Given the description of an element on the screen output the (x, y) to click on. 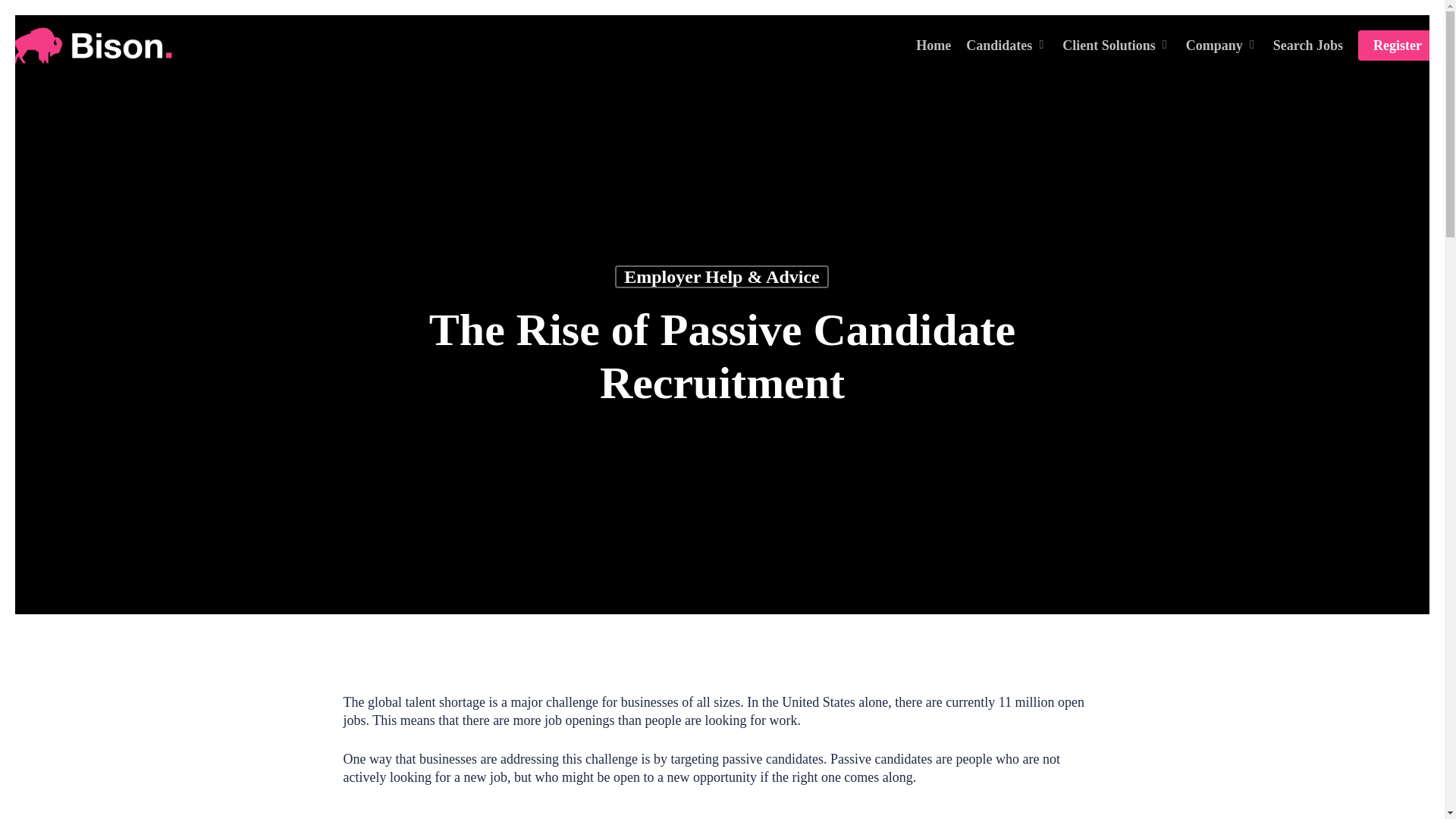
Search Jobs (1307, 45)
Register (1397, 45)
Home (932, 45)
Candidates (1006, 45)
Company (1221, 45)
targeting passive candidates (668, 813)
Client Solutions (1116, 45)
